Given the description of an element on the screen output the (x, y) to click on. 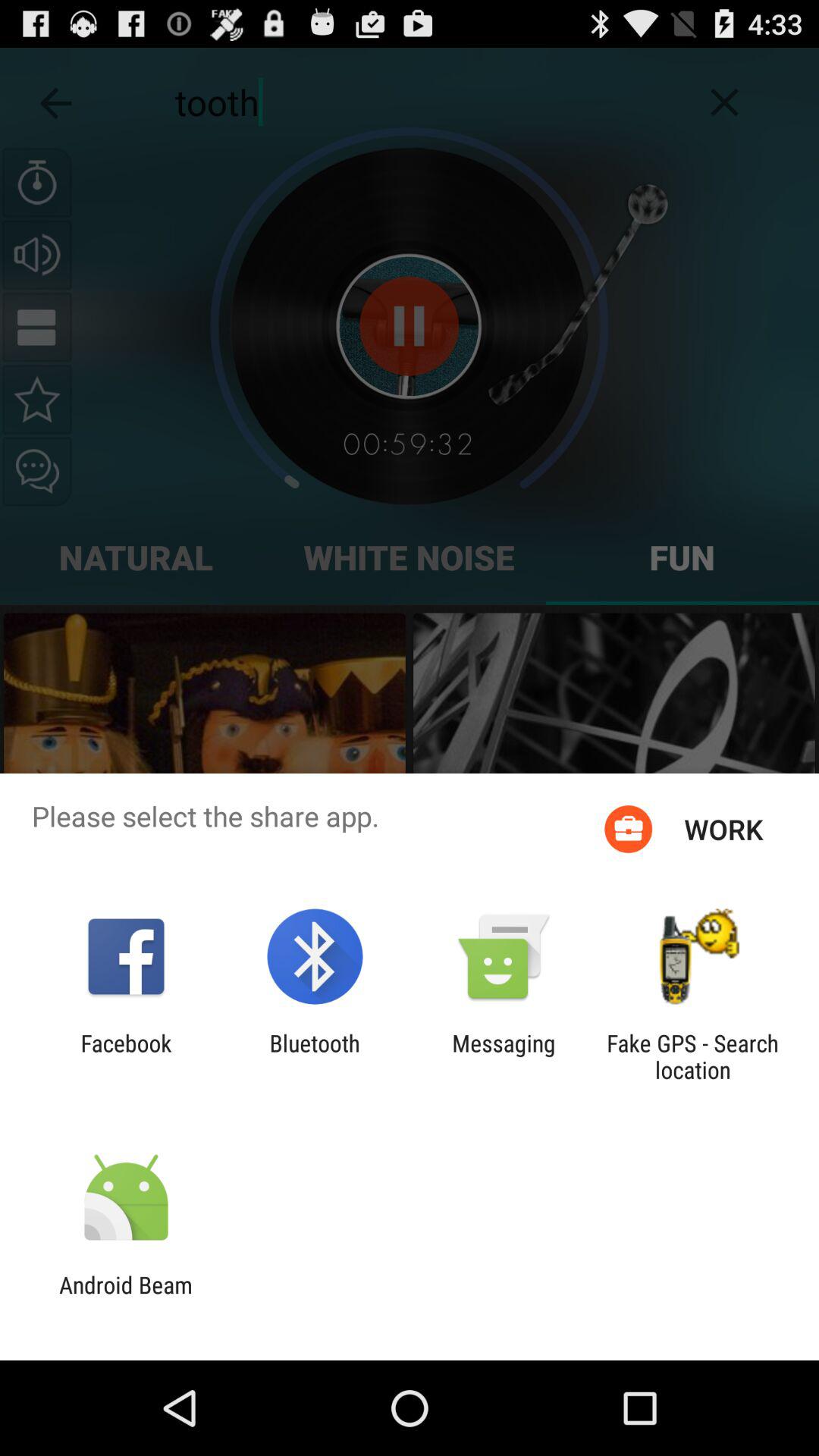
turn on app next to the bluetooth item (503, 1056)
